Given the description of an element on the screen output the (x, y) to click on. 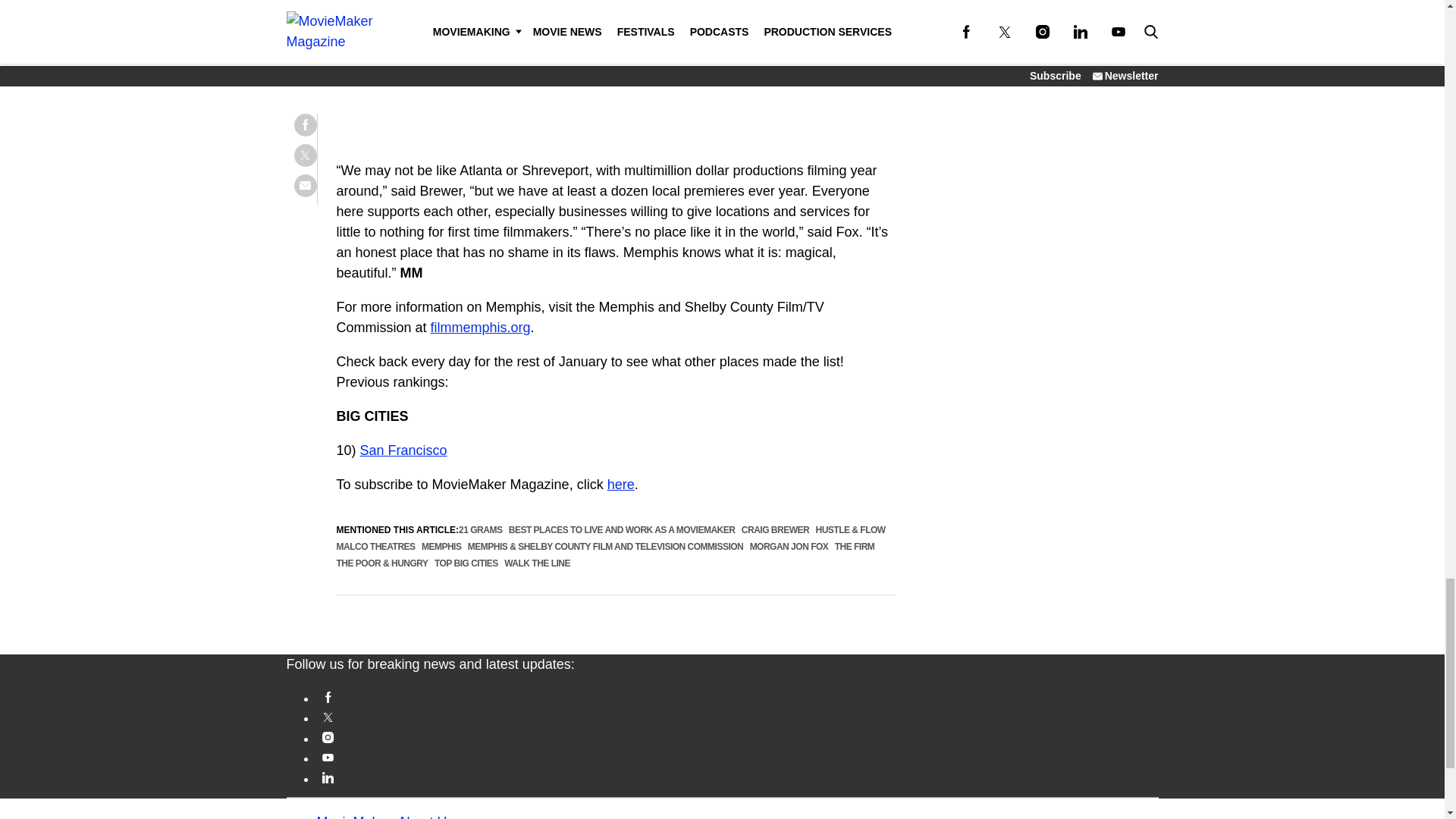
Follow us on Instagram (737, 737)
Follow us on Facebook (737, 696)
Follow us on Twitter (737, 716)
Subscribe to our YouTube channel (737, 756)
MovieMaker: About Us (385, 816)
Connect with us on LinkedIn (737, 777)
